Given the description of an element on the screen output the (x, y) to click on. 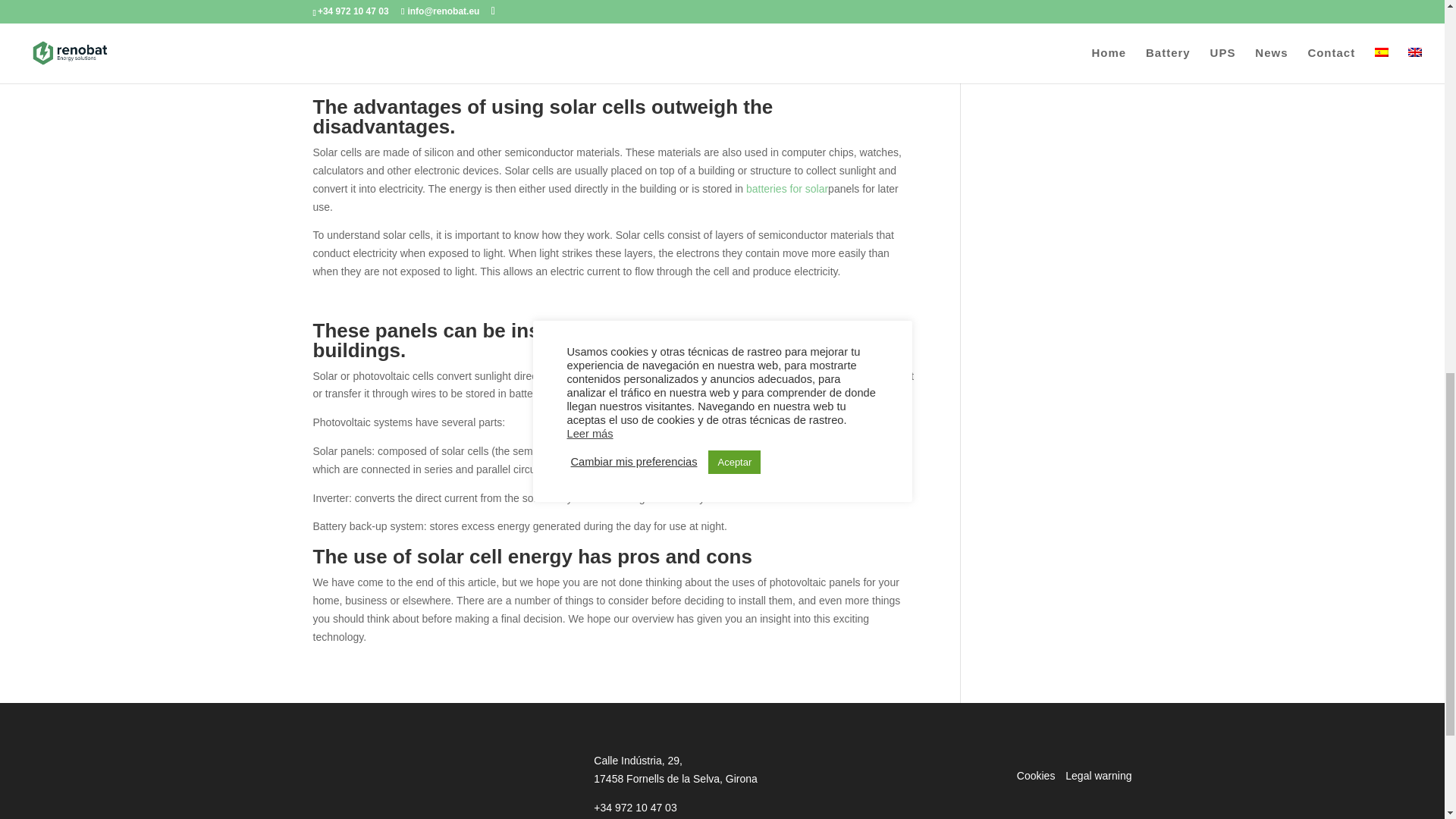
batteries for solar (786, 188)
Legal warning (1098, 775)
Cookies (1035, 775)
